Given the description of an element on the screen output the (x, y) to click on. 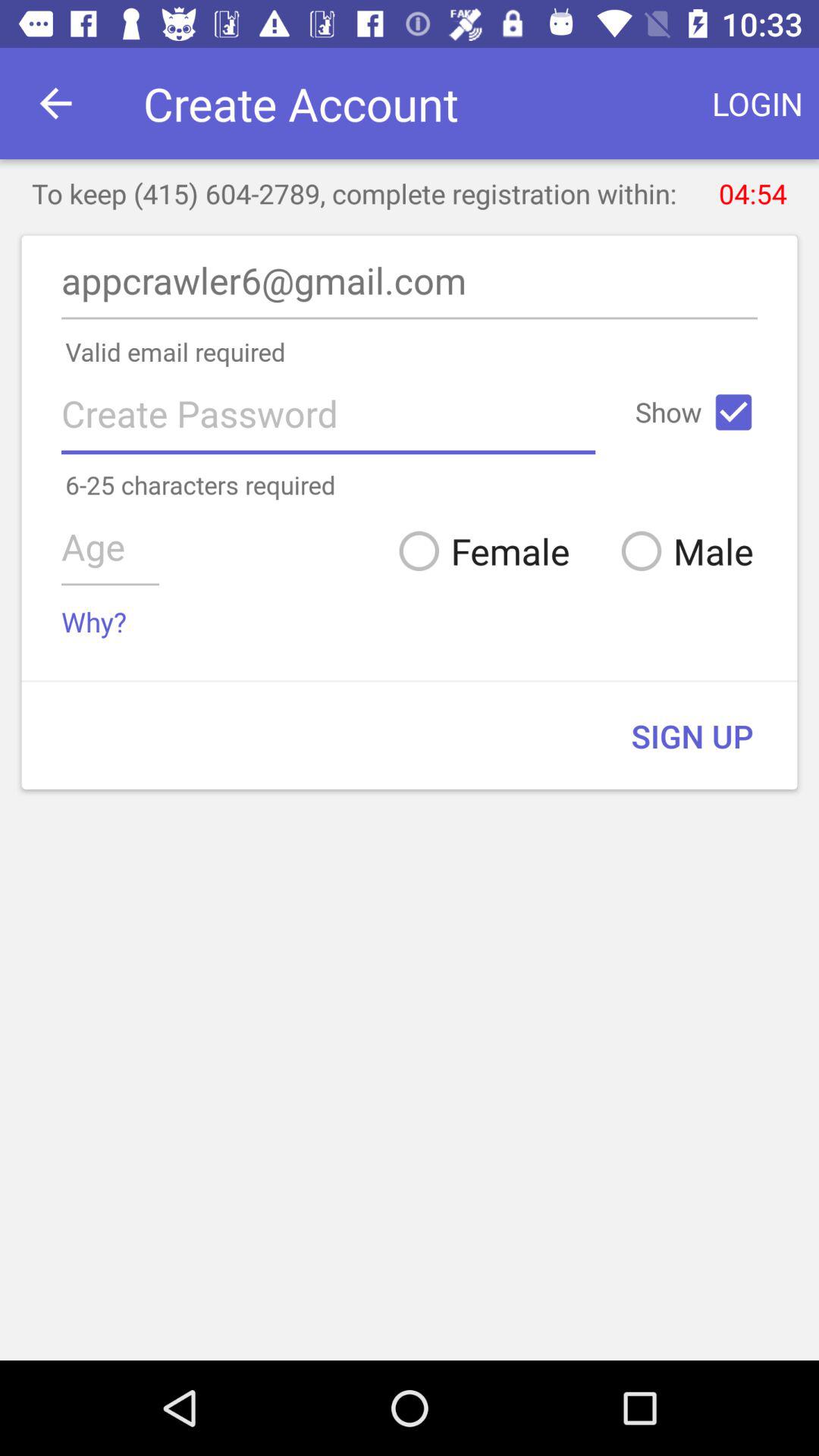
select male icon (681, 550)
